Given the description of an element on the screen output the (x, y) to click on. 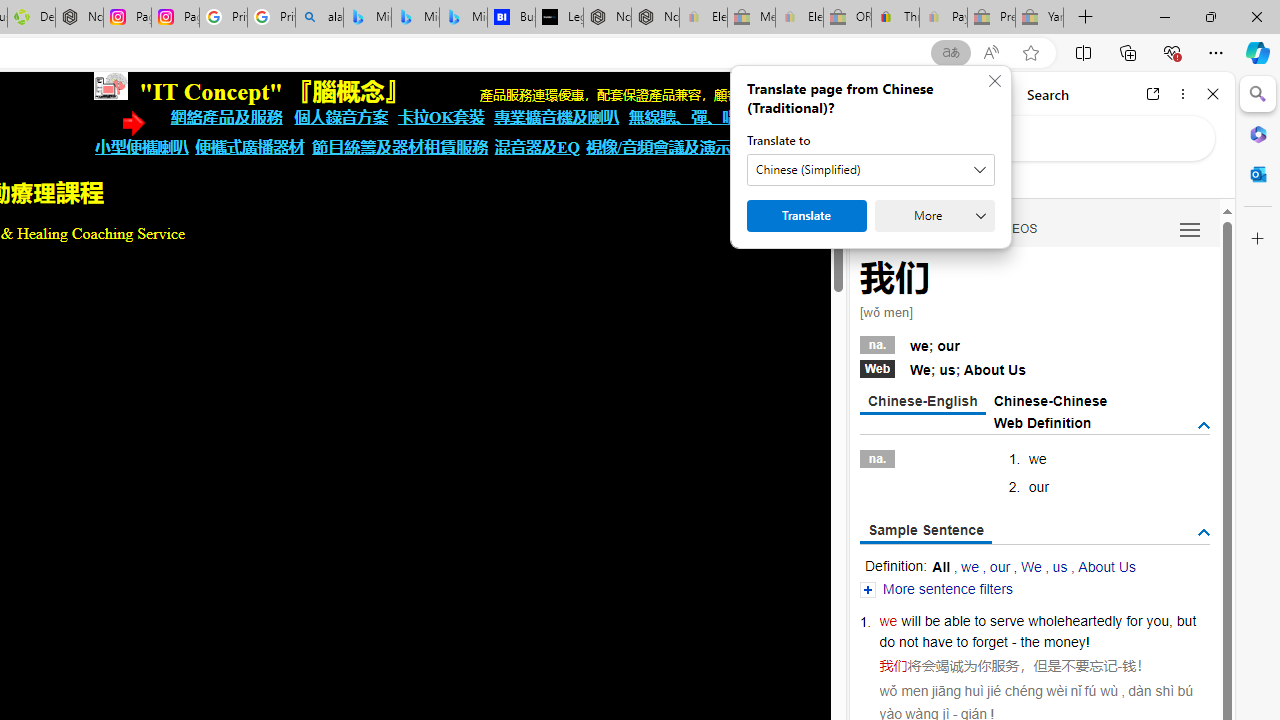
us (1059, 566)
More options (1182, 93)
Home (938, 93)
Add this page to favorites (Ctrl+D) (1030, 53)
Press Room - eBay Inc. - Sleeping (991, 17)
Yard, Garden & Outdoor Living - Sleeping (1039, 17)
- (1119, 665)
Search the web (1051, 137)
